Given the description of an element on the screen output the (x, y) to click on. 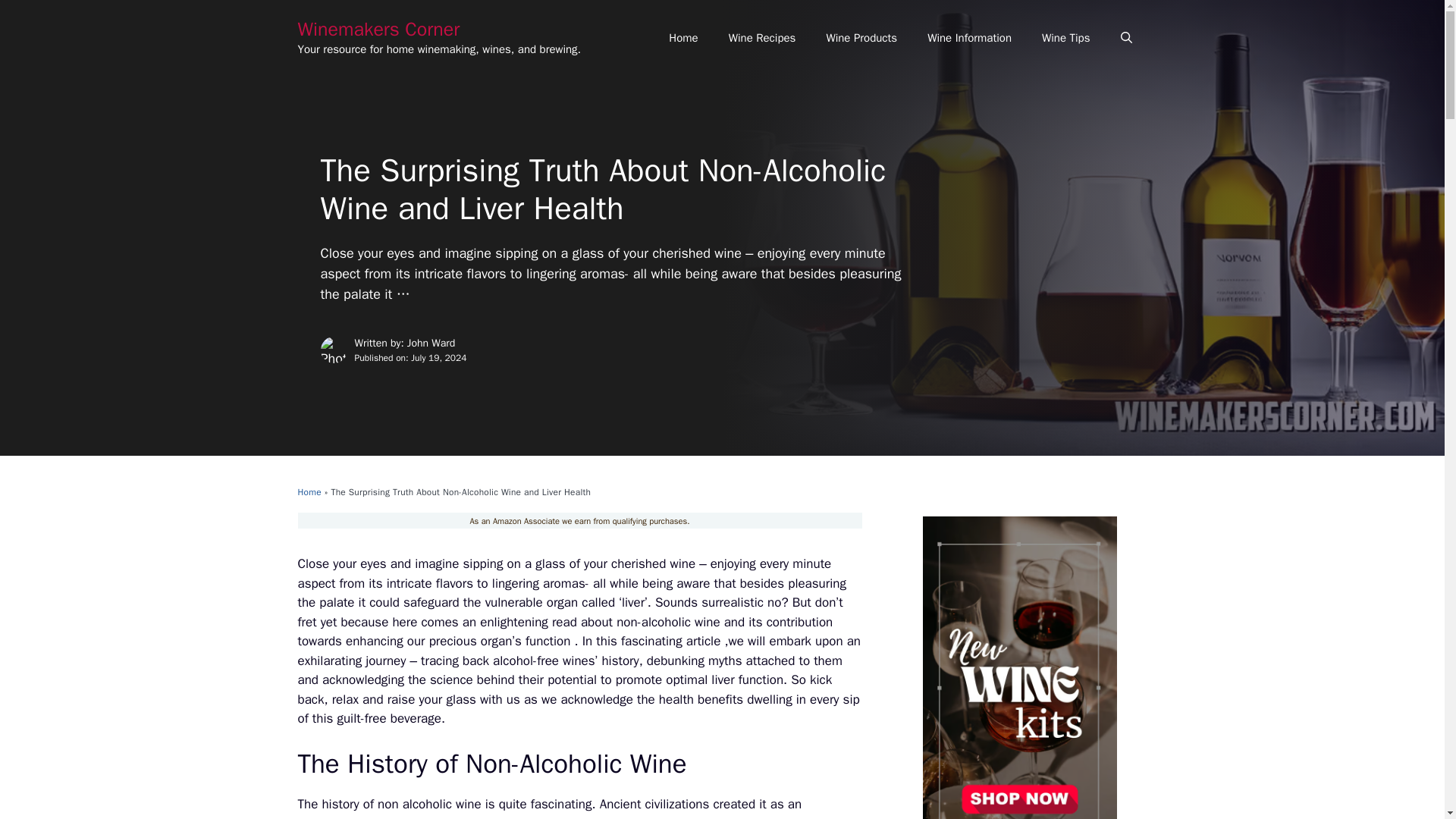
Wine Recipes (761, 37)
Wine Tips (1065, 37)
Home (308, 491)
Winemakers Corner (378, 28)
Home (683, 37)
Wine Products (861, 37)
Wine Information (969, 37)
